Given the description of an element on the screen output the (x, y) to click on. 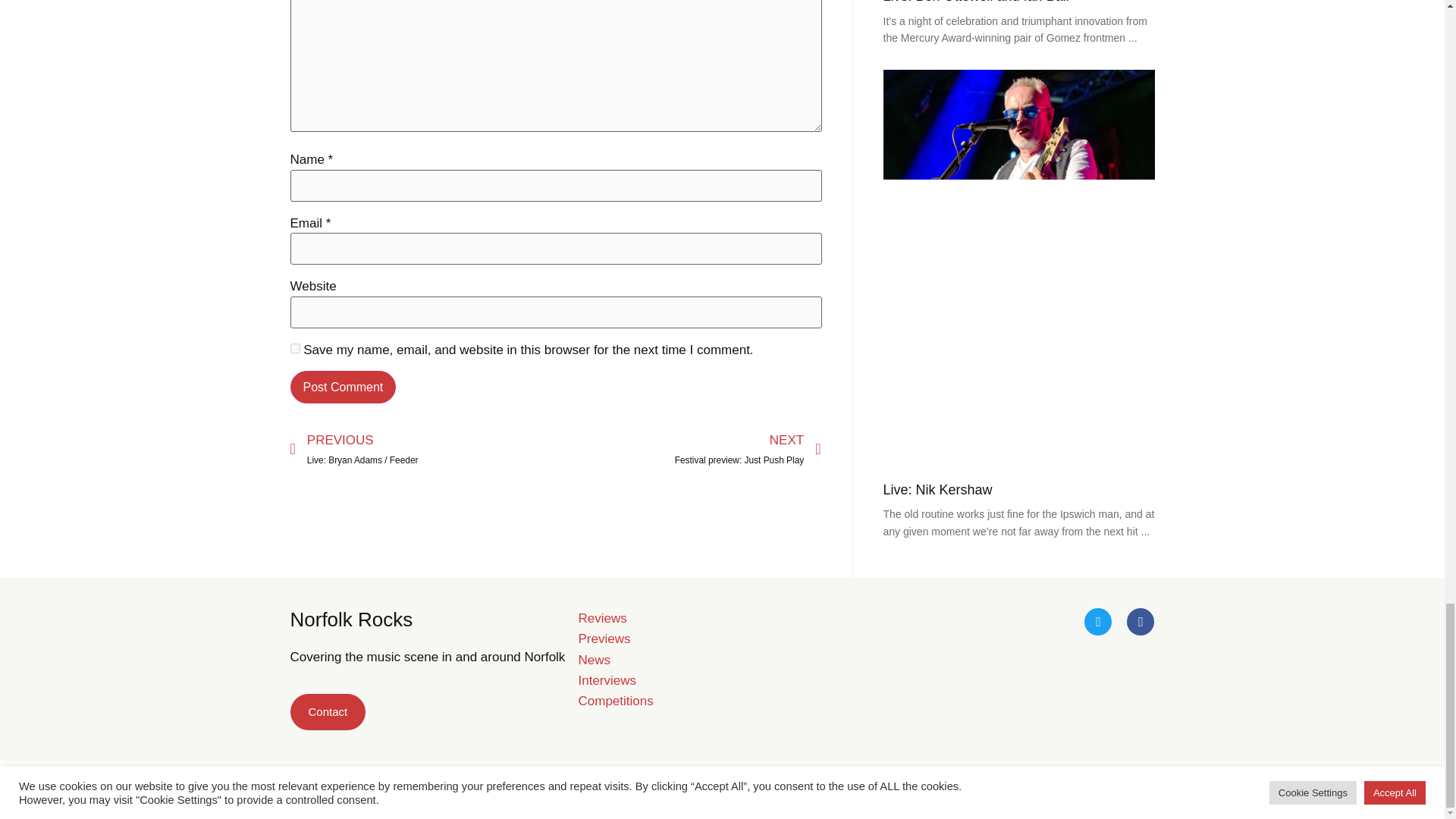
Live: Nik Kershaw (936, 489)
Post Comment (342, 387)
Reviews (602, 617)
Previews (604, 638)
Competitions (687, 449)
News (615, 700)
Live: Ben Ottewell and Ian Ball (594, 659)
Contact (975, 2)
yes (327, 711)
